Given the description of an element on the screen output the (x, y) to click on. 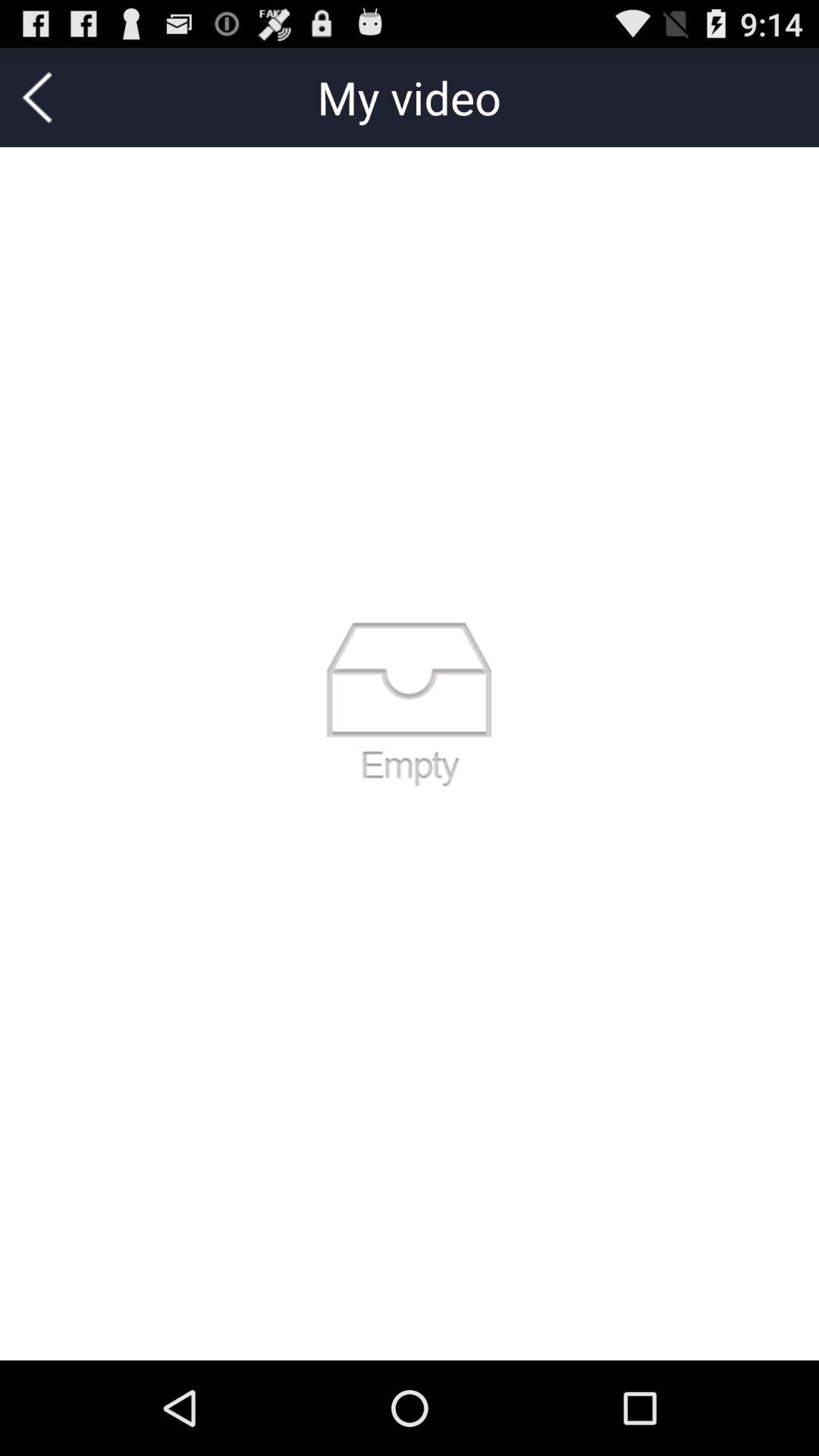
tap the icon at the top left corner (37, 97)
